Given the description of an element on the screen output the (x, y) to click on. 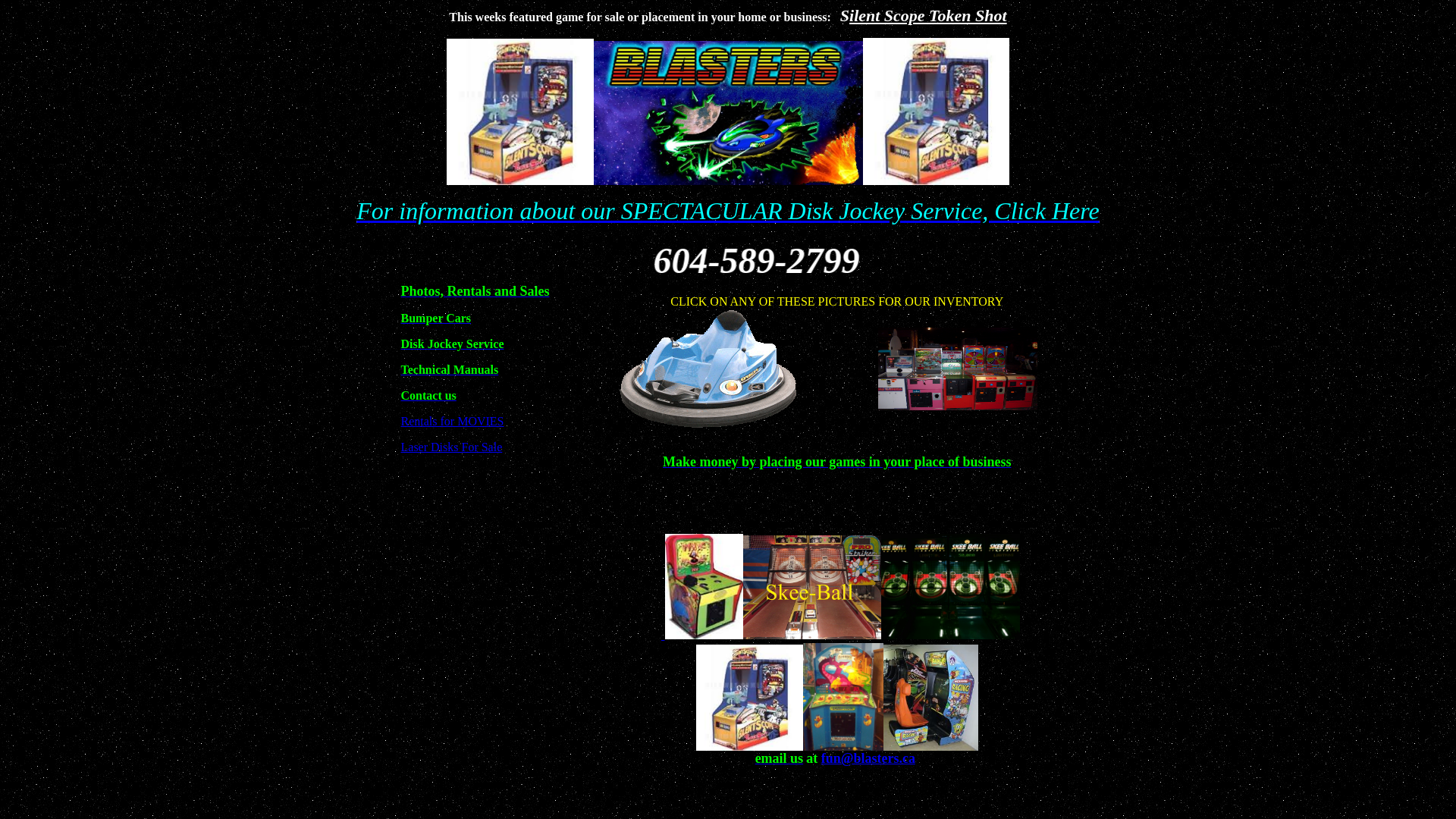
Disk Jockey Service Element type: text (451, 343)
Jockey Service, Click Here Element type: text (968, 210)
Bumper Cars Element type: text (435, 317)
email us Element type: text (779, 758)
Rentals for MOVIES Element type: text (451, 420)
Make money by placing our games in your place of business Element type: text (836, 461)
Technical Manuals Element type: text (449, 369)
Laser Disks For Sale Element type: text (451, 446)
fun@blasters.ca Element type: text (868, 757)
Contact us Element type: text (427, 395)
For information about our SPECTACULAR Disk Element type: text (597, 210)
Photos, Rentals and Sales Element type: text (474, 291)
